Given the description of an element on the screen output the (x, y) to click on. 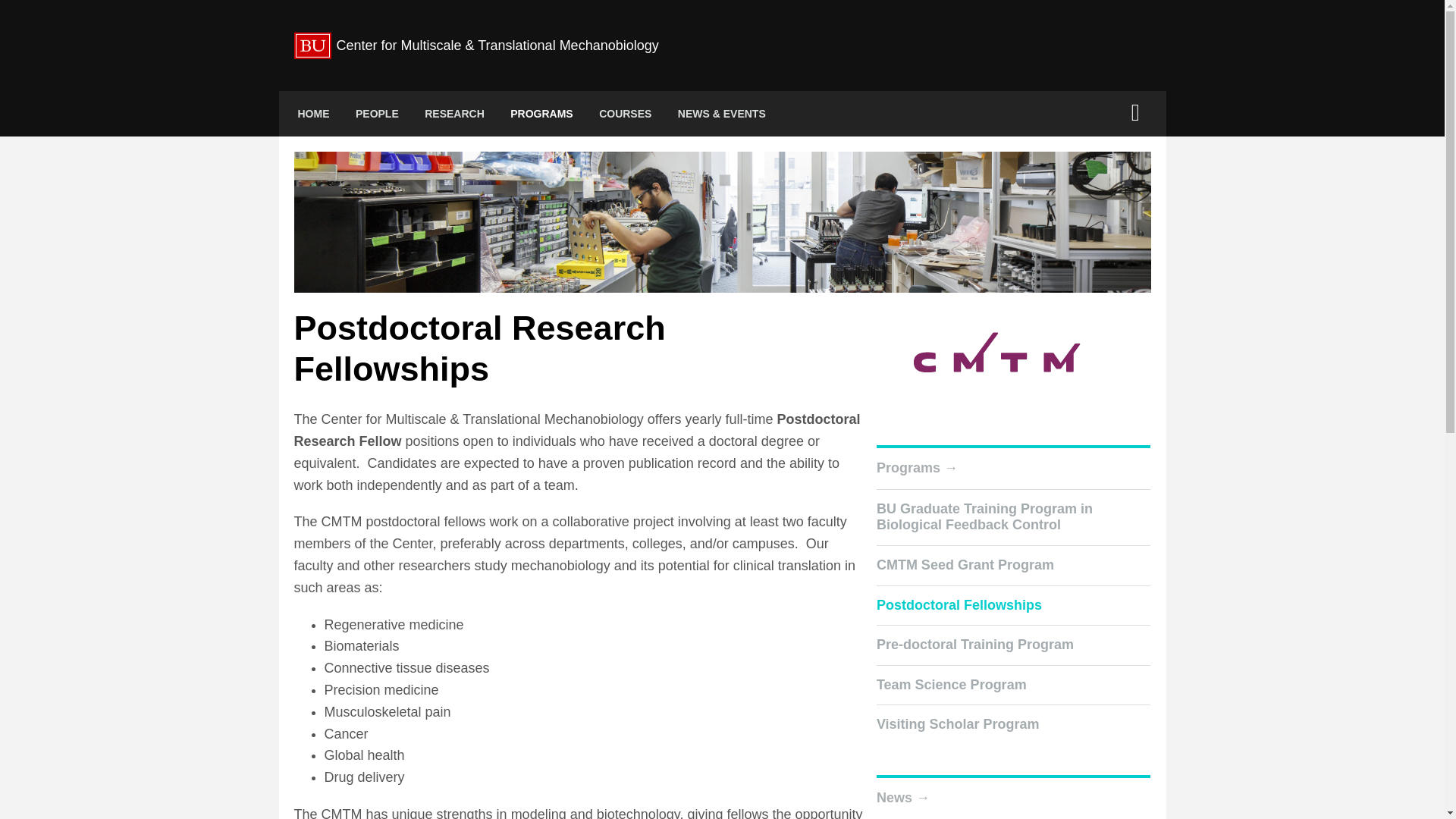
HOME (313, 113)
RESEARCH (454, 113)
Navigate to: Research (454, 113)
PEOPLE (376, 113)
Navigate to: Programs (541, 113)
COURSES (625, 113)
Navigate to: Home (313, 113)
PROGRAMS (541, 113)
Navigate to: People (376, 113)
